Given the description of an element on the screen output the (x, y) to click on. 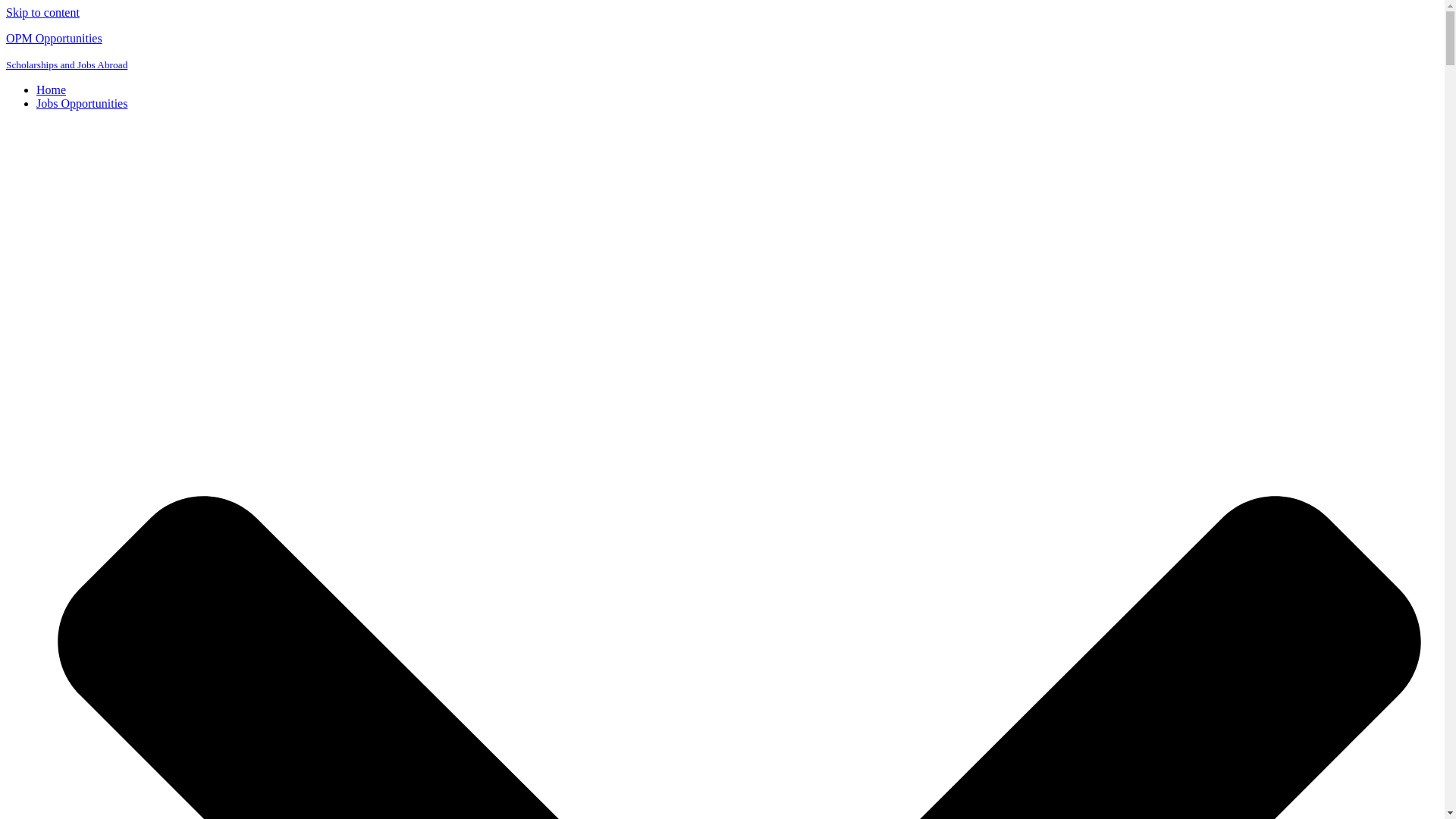
Jobs Opportunities (82, 103)
Home (50, 89)
Skip to content (42, 11)
